Given the description of an element on the screen output the (x, y) to click on. 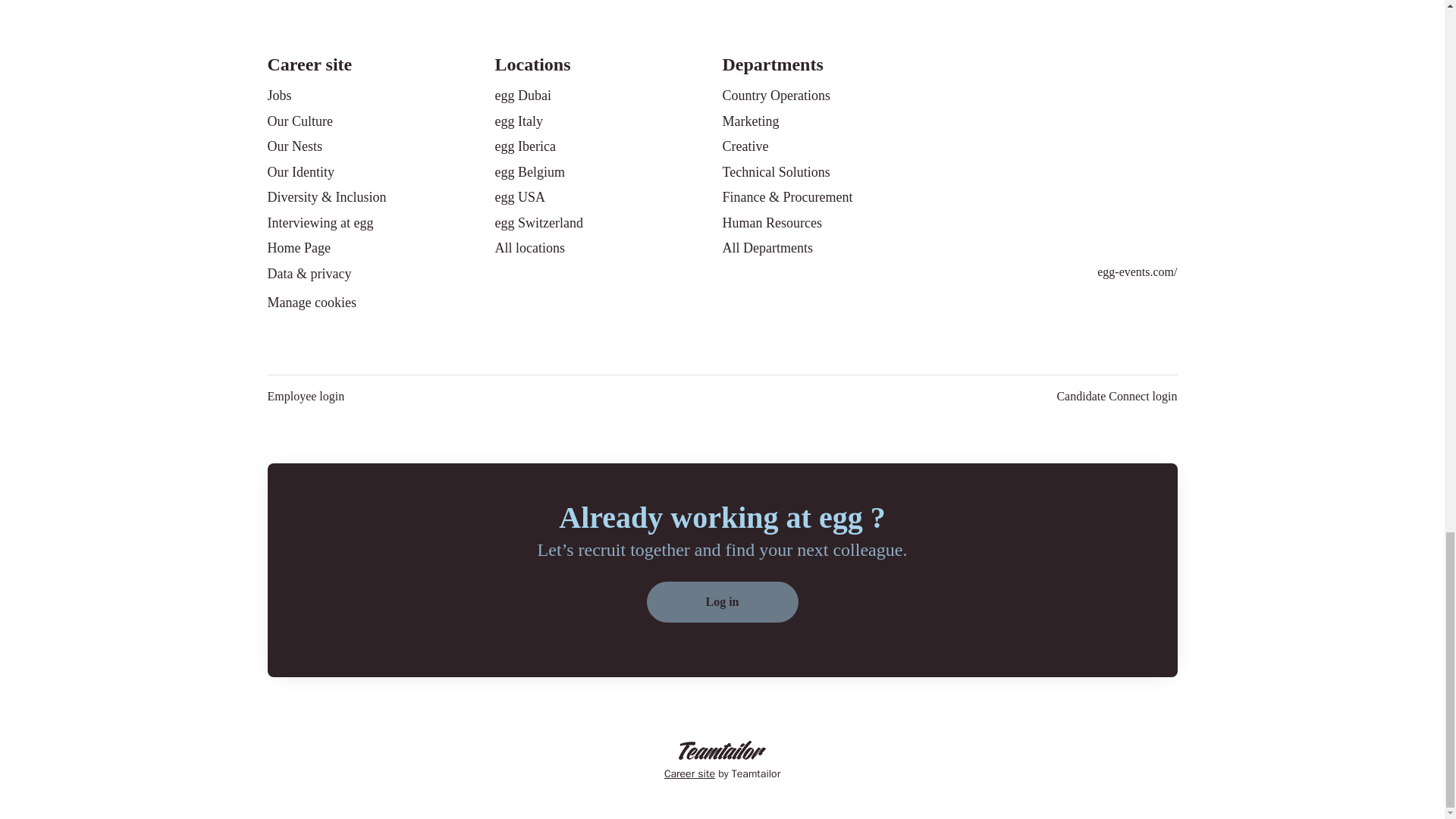
Our Nests (293, 146)
egg USA (519, 197)
Manage cookies (310, 302)
Interviewing at egg (319, 222)
Our Culture (298, 120)
egg Iberica (524, 146)
Home Page (298, 247)
egg Belgium (529, 171)
Our Identity (299, 171)
Jobs (278, 95)
egg Italy (518, 120)
egg Dubai (522, 95)
egg Switzerland (538, 222)
